Given the description of an element on the screen output the (x, y) to click on. 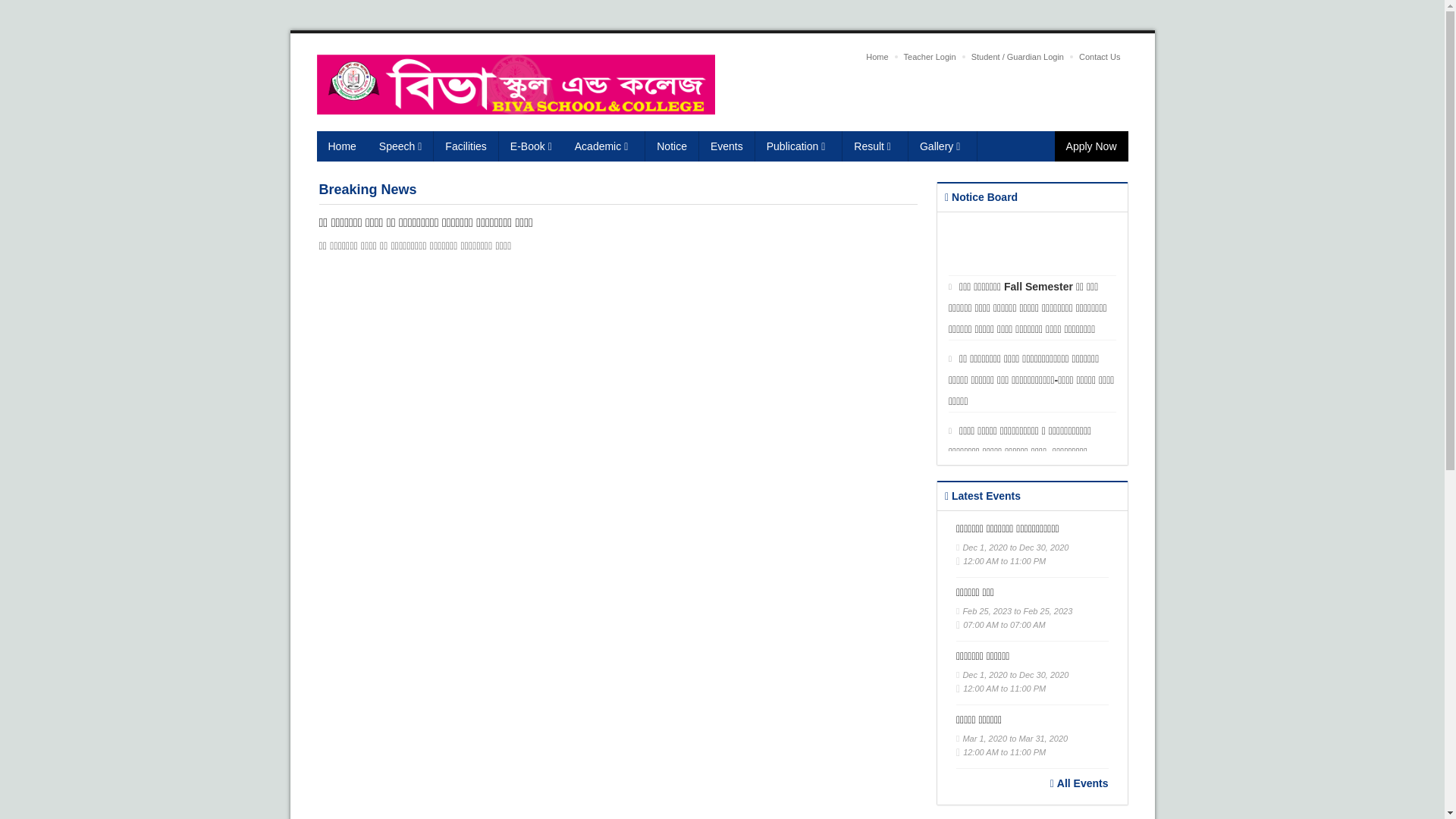
Gallery Element type: text (942, 146)
Contact Us Element type: text (1099, 56)
Home Element type: text (341, 146)
Teacher Login Element type: text (929, 56)
Result Element type: text (875, 146)
All Events Element type: text (1079, 783)
E-Book Element type: text (530, 146)
Student / Guardian Login Element type: text (1017, 56)
Publication Element type: text (799, 146)
Speech Element type: text (400, 146)
Facilities Element type: text (465, 146)
Notice Element type: text (672, 146)
Events Element type: text (727, 146)
Academic Element type: text (604, 146)
Apply Now Element type: text (1091, 146)
Home Element type: text (876, 56)
